Given the description of an element on the screen output the (x, y) to click on. 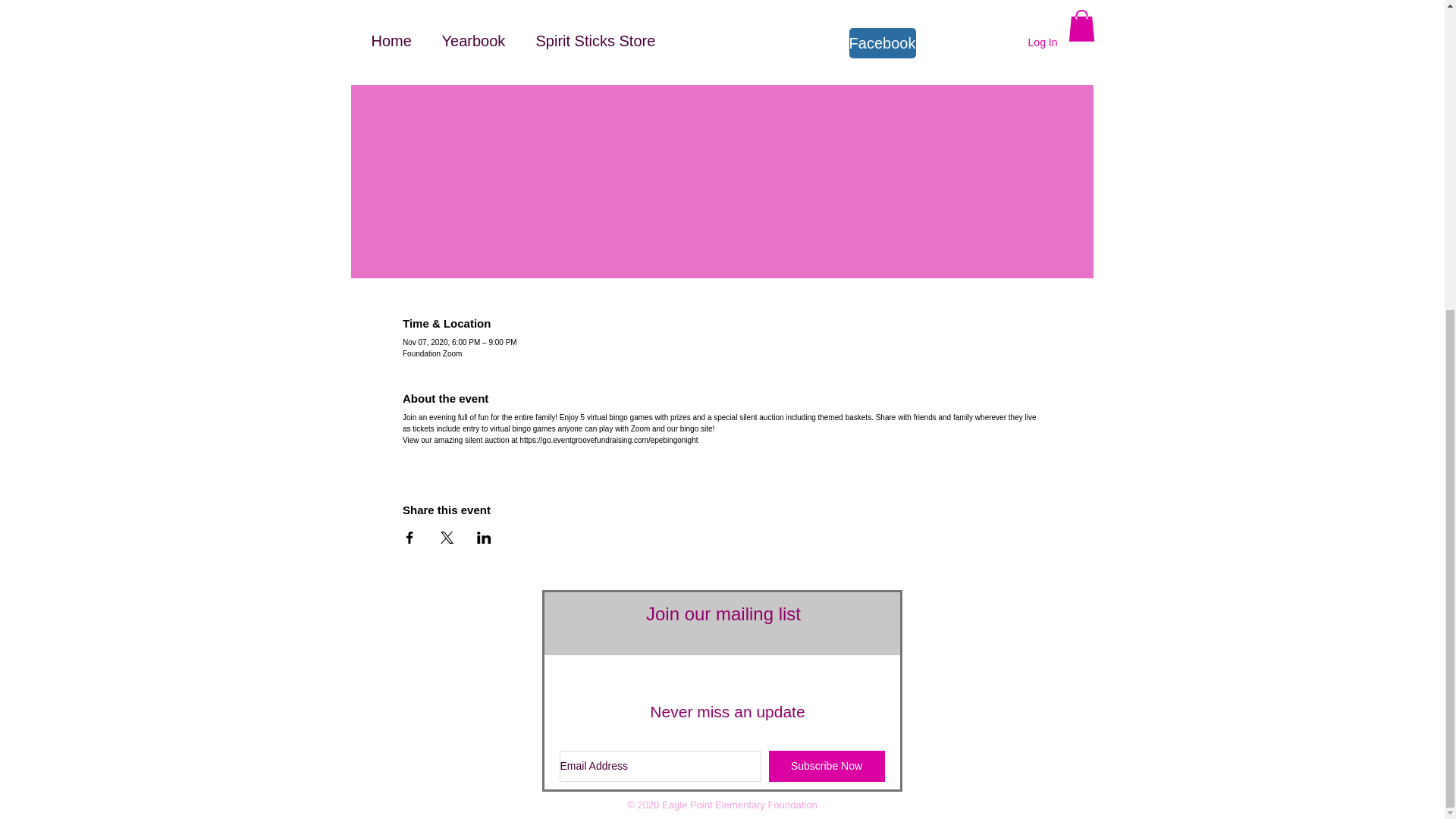
Subscribe Now (826, 766)
